Given the description of an element on the screen output the (x, y) to click on. 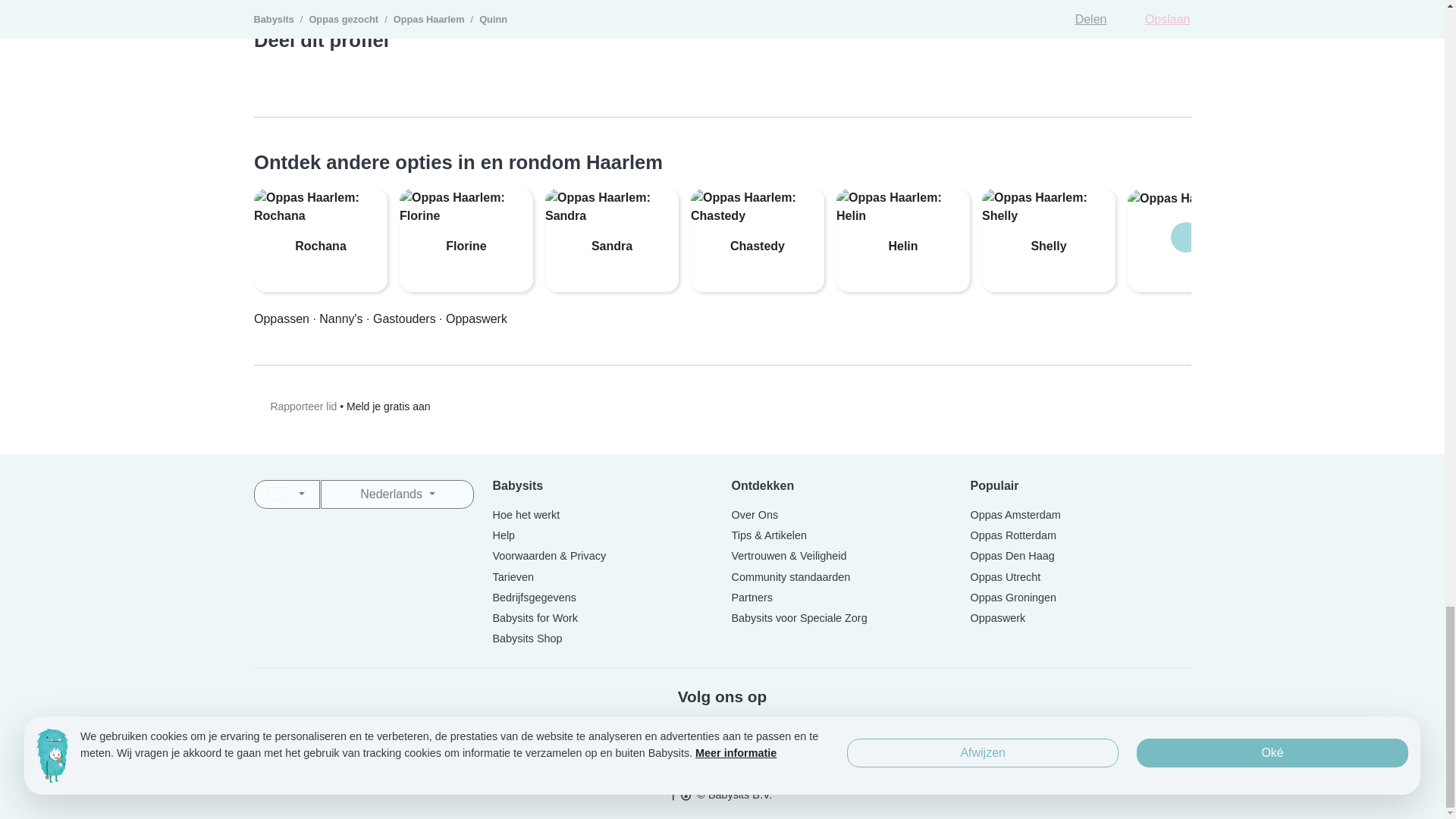
Bekijk de details van Shelly uit Haarlem (1048, 228)
Gemiddeld 5 van 5 sterren. (320, 269)
Bekijk de details van Rochana uit Haarlem (320, 240)
Bekijk de details van Helin uit Haarlem (902, 228)
Bekijk de details van Chastedy uit Haarlem (757, 228)
Bekijk de details van Lua uit Haarlem (1193, 219)
Bekijk de details van Florine uit Haarlem (465, 228)
Bekijk de details van Sandra uit Haarlem (611, 228)
